Given the description of an element on the screen output the (x, y) to click on. 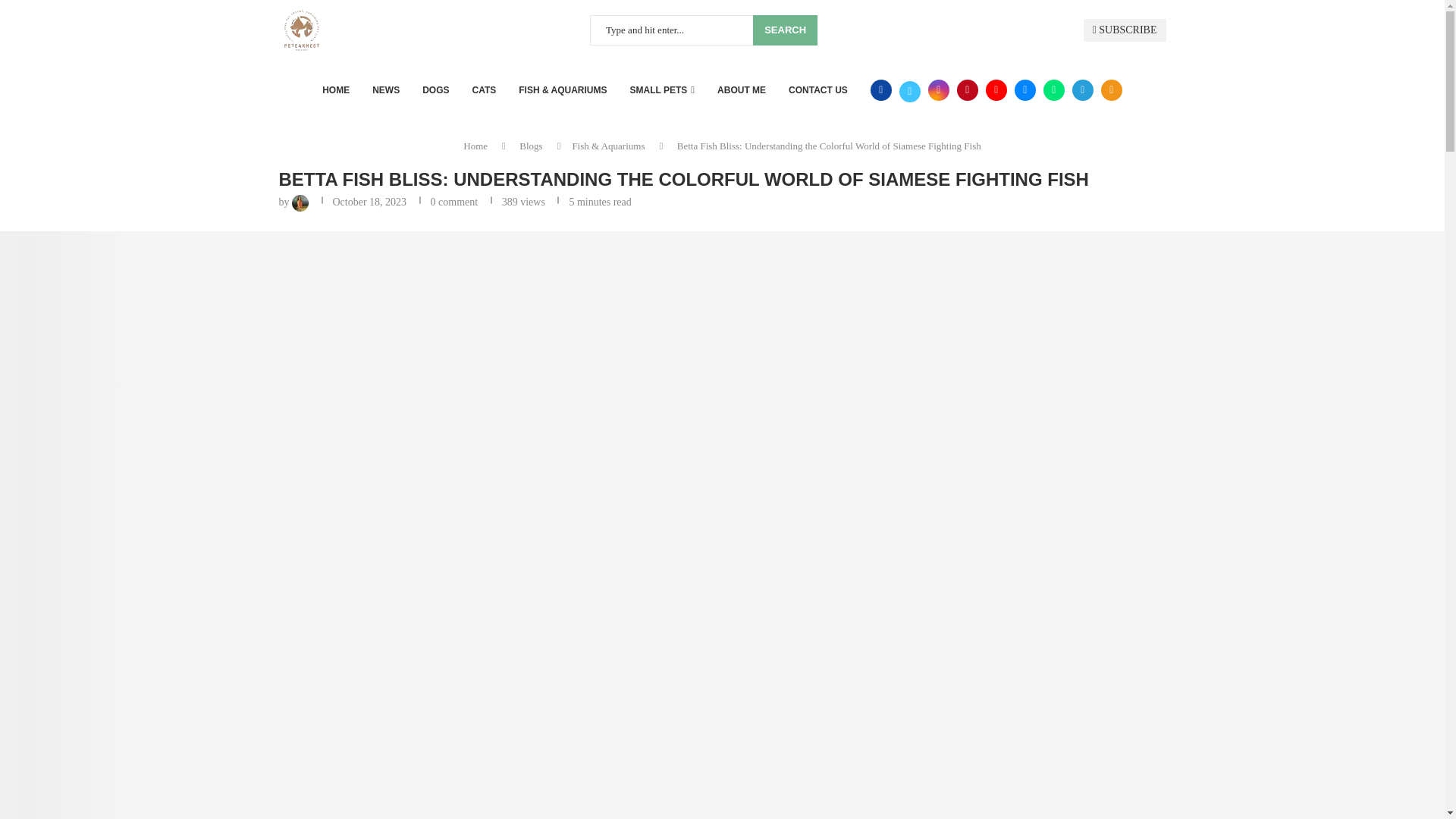
SUBSCRIBE (1124, 29)
SMALL PETS (662, 89)
SEARCH (784, 30)
